Given the description of an element on the screen output the (x, y) to click on. 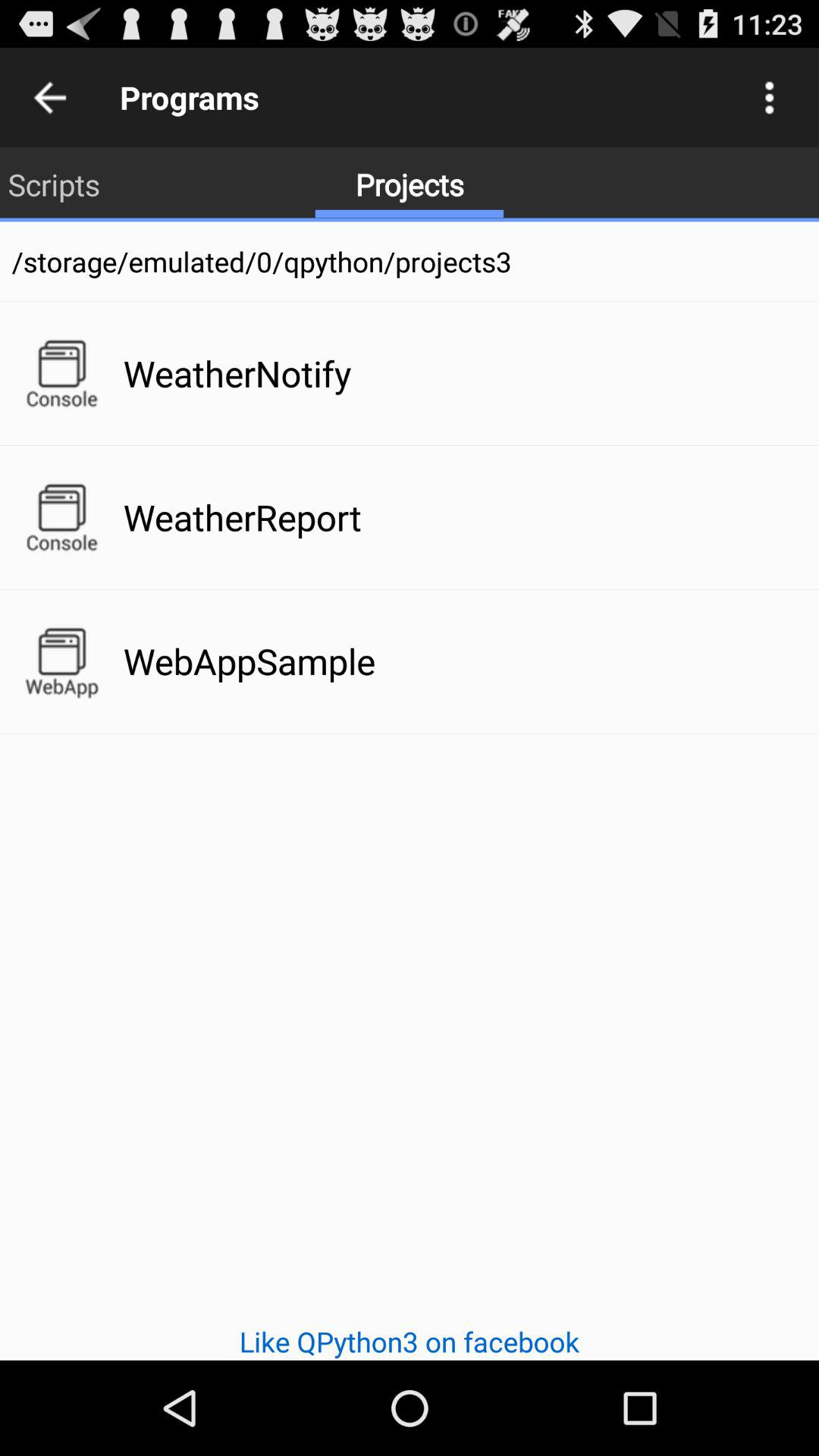
click to more information (769, 97)
